Given the description of an element on the screen output the (x, y) to click on. 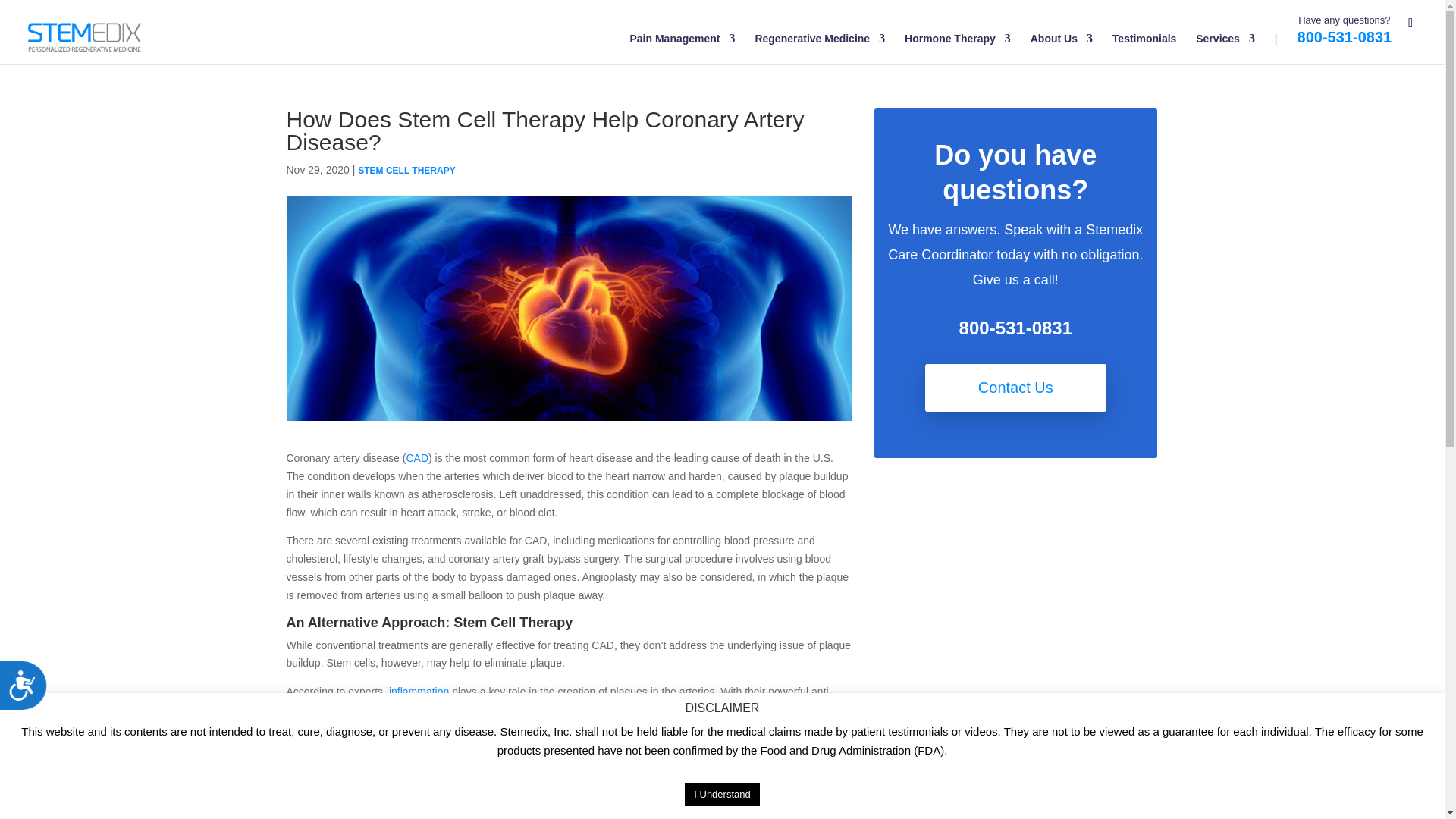
Pain Management (681, 48)
Regenerative Medicine (819, 48)
Accessibility (29, 690)
